Given the description of an element on the screen output the (x, y) to click on. 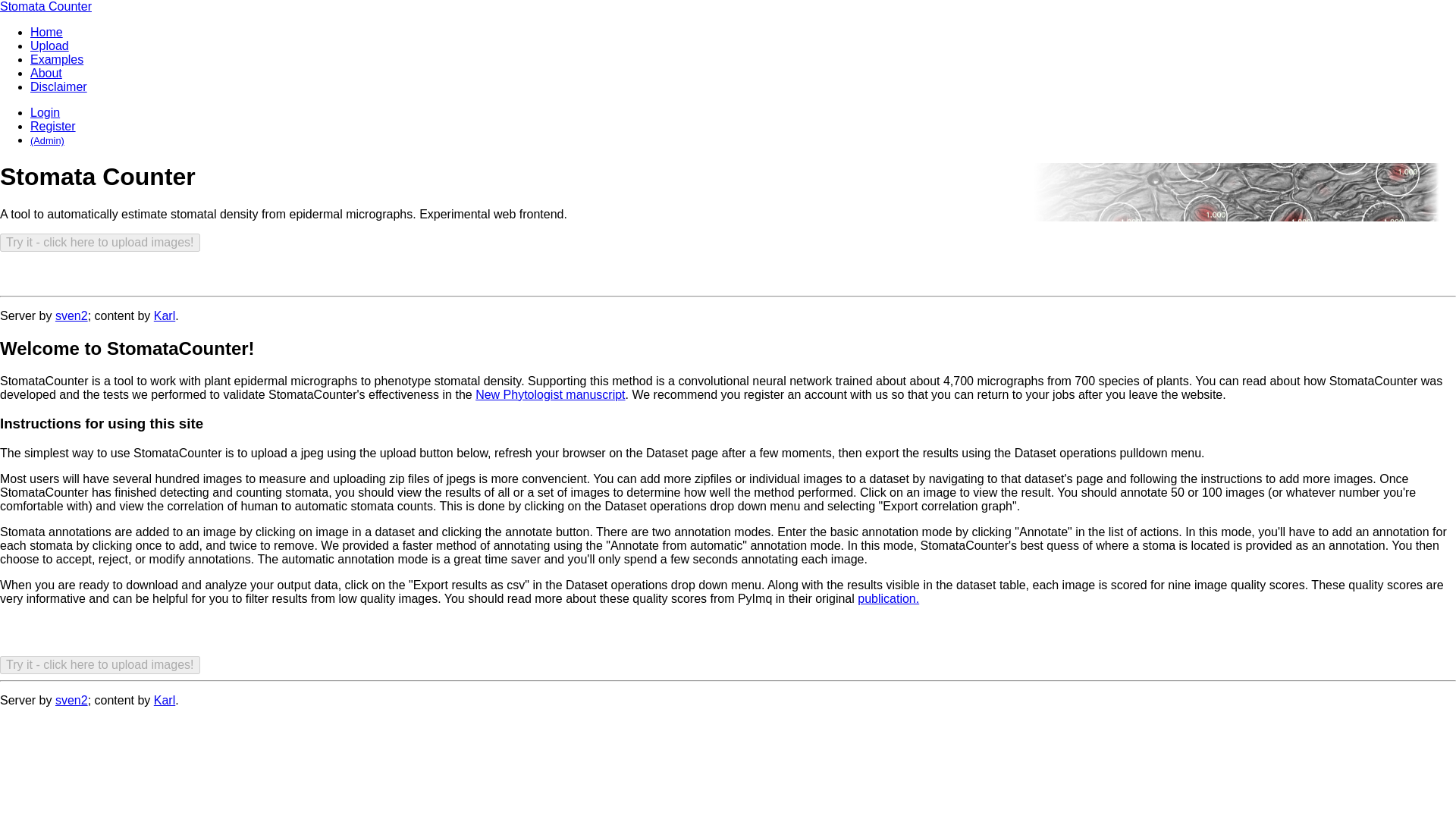
Upload (49, 45)
Login (44, 112)
publication. (887, 598)
Karl (164, 315)
sven2 (71, 315)
Examples (56, 59)
Try it - click here to upload images! (100, 242)
Karl (164, 699)
About (46, 72)
New Phytologist manuscript (550, 394)
sven2 (71, 699)
Home (46, 31)
Disclaimer (58, 86)
Stomata Counter (45, 6)
Register (52, 125)
